Given the description of an element on the screen output the (x, y) to click on. 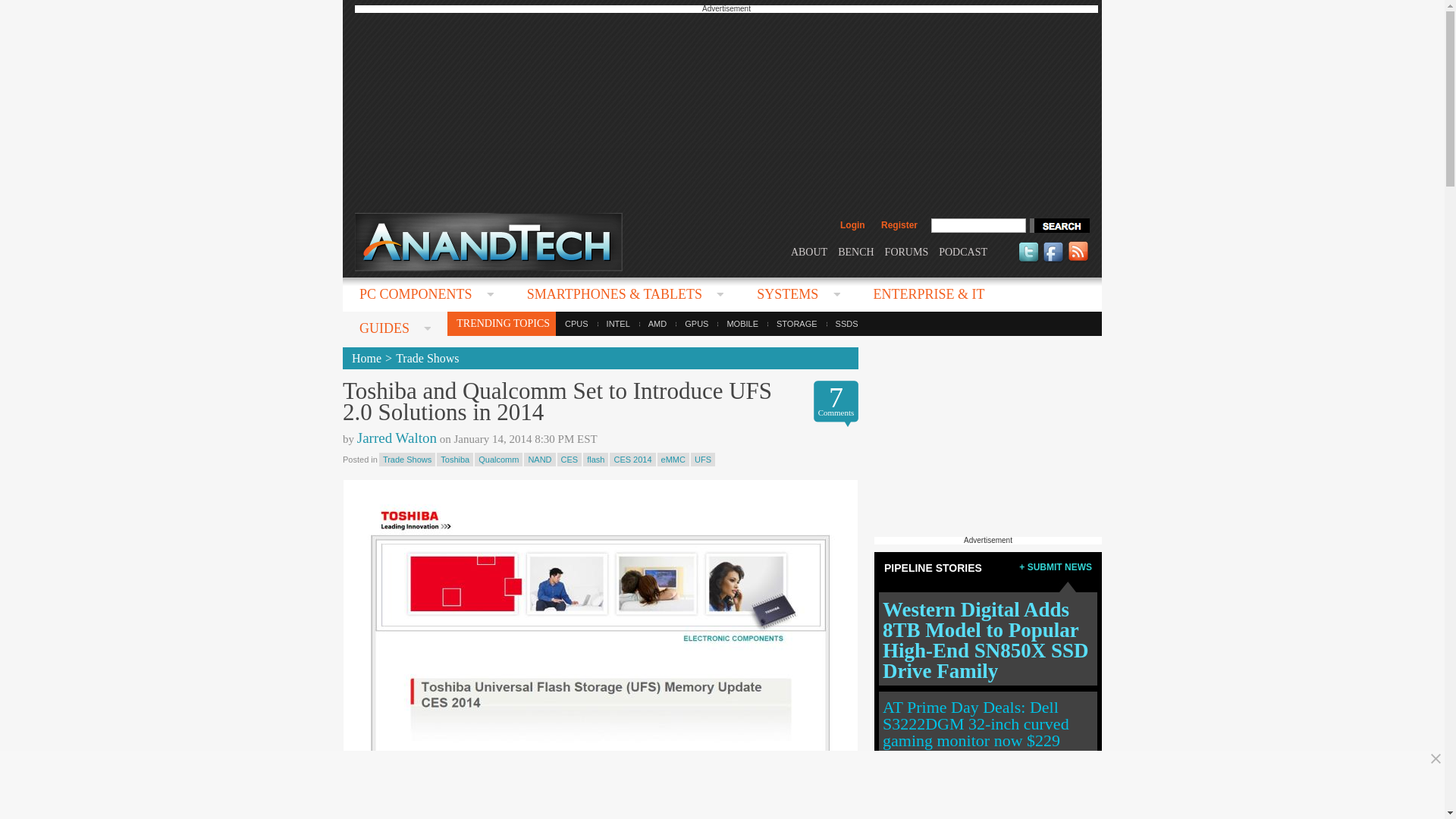
search (1059, 225)
FORUMS (906, 251)
ABOUT (808, 251)
search (1059, 225)
PODCAST (963, 251)
Login (852, 225)
BENCH (855, 251)
search (1059, 225)
Register (898, 225)
